Given the description of an element on the screen output the (x, y) to click on. 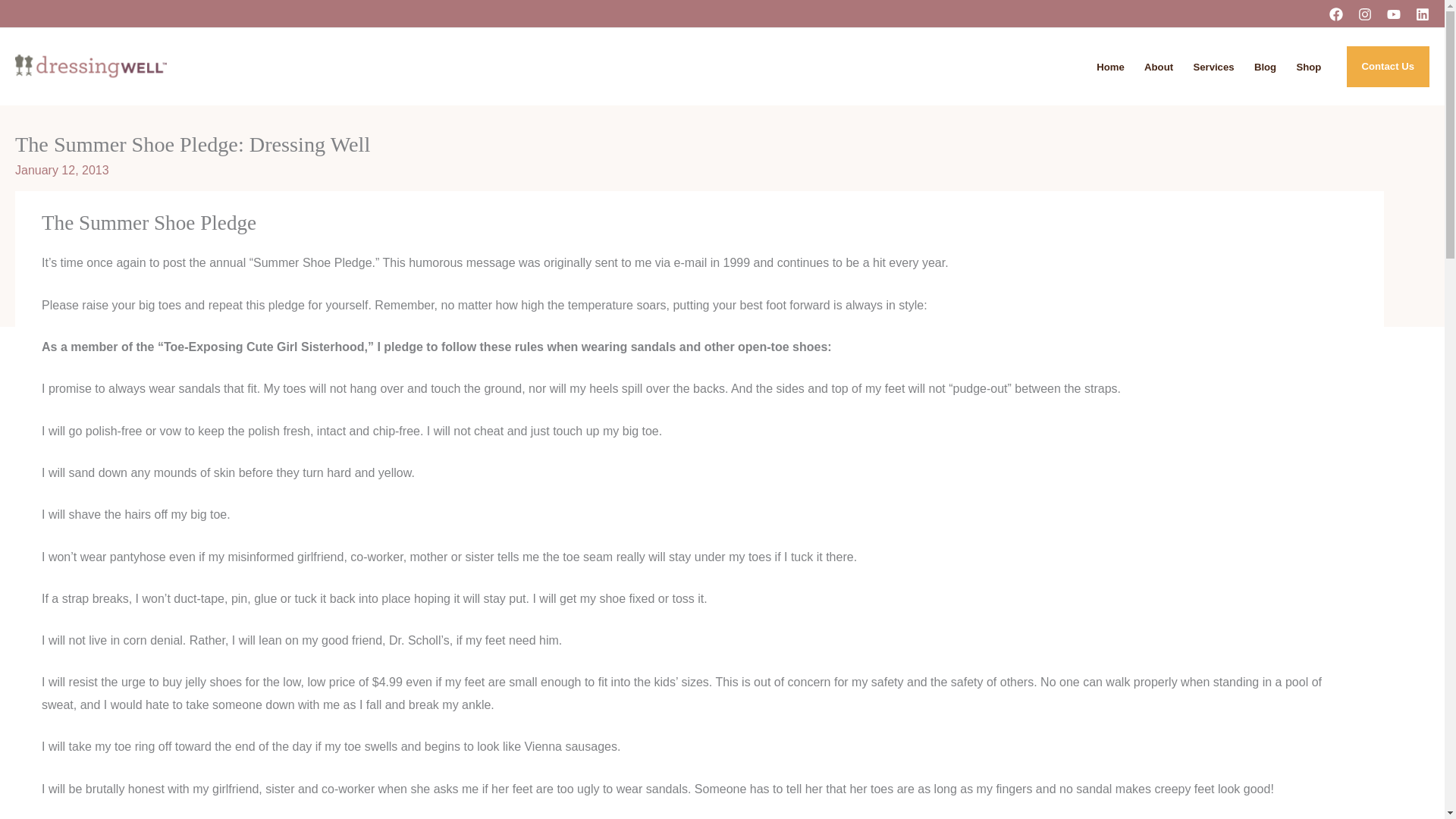
About (1158, 67)
Services (1212, 67)
Home (1110, 67)
Contact Us (1387, 65)
Shop (1307, 67)
Blog (1265, 67)
